Given the description of an element on the screen output the (x, y) to click on. 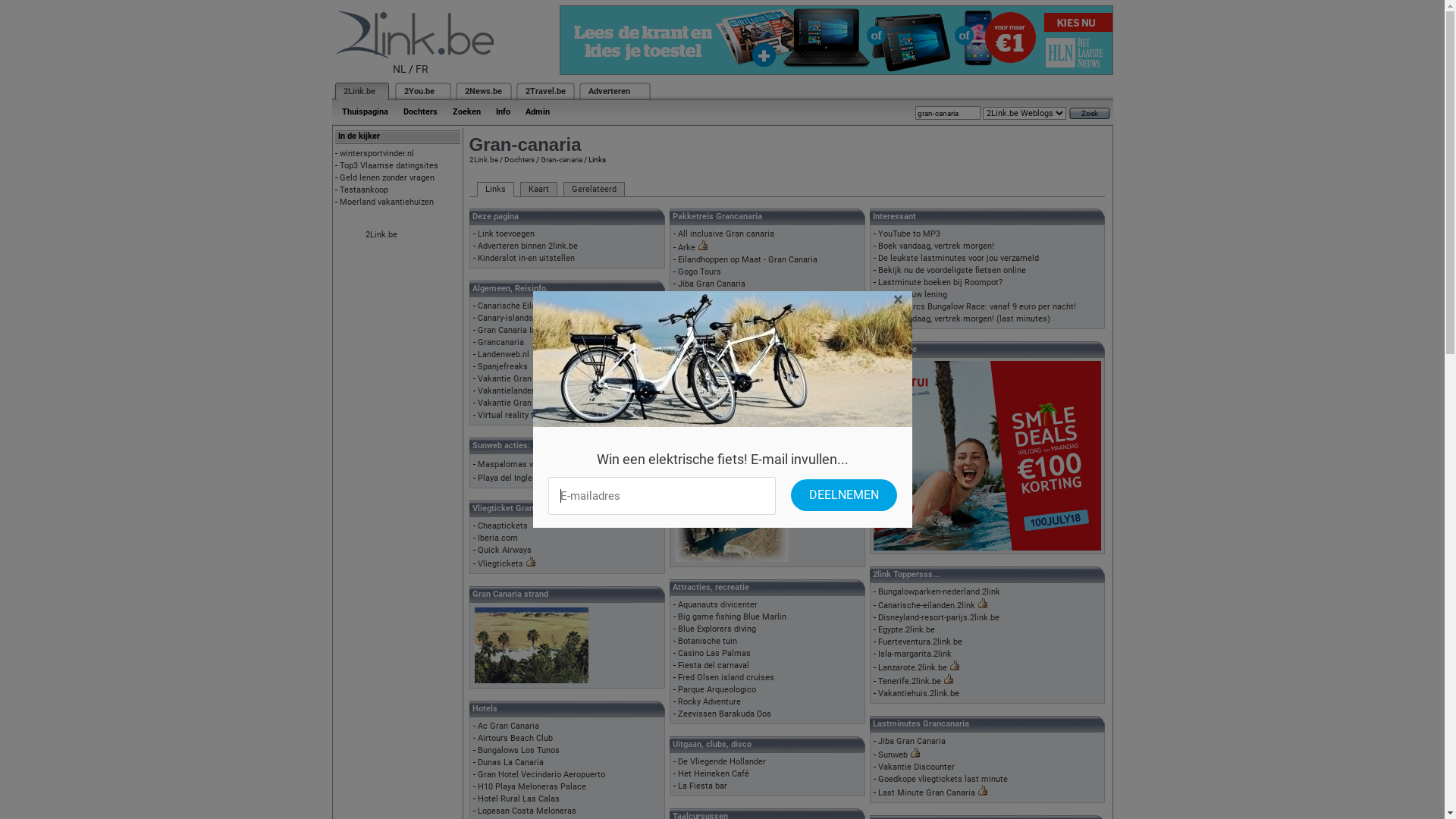
Vliegtickets Element type: text (500, 563)
Thuispagina Element type: text (364, 111)
Casino Las Palmas Element type: text (713, 653)
Aquanauts divicenter Element type: text (717, 604)
Gran Canaria Info Element type: text (510, 330)
Links Element type: text (494, 189)
Avis Element type: text (685, 430)
Fuerteventura.2link.be Element type: text (920, 641)
Rocky Adventure Element type: text (708, 701)
Lopesan Costa Meloneras Element type: text (526, 810)
Admin Element type: text (536, 111)
Geld lenen zonder vragen Element type: text (386, 177)
Lastminute boeken bij Roompot? Element type: text (940, 282)
OutSight Travel Element type: text (707, 308)
YouTube to MP3 Element type: text (909, 233)
Vakantie Canarische Eilanden Element type: text (733, 333)
Boek vandaag, vertrek morgen! (last minutes) Element type: text (964, 318)
Big game fishing Blue Marlin Element type: text (731, 616)
Airtours Beach Club Element type: text (514, 738)
Bungalowparken-nederland.2link Element type: text (939, 591)
Virtual reality tour Element type: text (511, 415)
Parque Arqueologico Element type: text (716, 689)
Zeevissen Barakuda Dos Element type: text (724, 713)
Hotel Rural Las Calas Element type: text (518, 798)
Info Element type: text (502, 111)
De leukste lastminutes voor jou verzameld Element type: text (958, 258)
2Link.be Element type: text (358, 91)
Zoek Element type: text (1089, 113)
Testaankoop Element type: text (363, 189)
Dunas La Canaria Element type: text (510, 762)
Boek vandaag, vertrek morgen! Element type: text (936, 246)
Sunweb Element type: text (692, 321)
H10 Playa Meloneras Palace Element type: text (531, 786)
Quick Airways Element type: text (504, 550)
Egypte.2link.be Element type: text (906, 629)
Isla-margarita.2link Element type: text (914, 653)
2Link.be Element type: text (482, 159)
Gran Hotel Vecindario Aeropuerto Element type: text (541, 774)
Grancanaria Element type: text (500, 342)
Bungalows Los Tunos Element type: text (518, 750)
Link toevoegen Element type: text (505, 233)
Arke Element type: text (686, 247)
2Travel.be Element type: text (544, 91)
Blue Explorers diving Element type: text (716, 628)
La Fiesta bar Element type: text (702, 785)
All inclusive Gran canaria Element type: text (725, 233)
Vakantiediscounter Element type: text (714, 358)
Iberia.com Element type: text (497, 537)
Vakantielanden.net Gran Canaria Element type: text (539, 390)
2News.be Element type: text (482, 91)
Vakantie Gran Canaria Element type: text (519, 402)
Canarische-eilanden.2link Element type: text (926, 605)
Kinderslot in-en uitstellen Element type: text (525, 258)
Ac Gran Canaria Element type: text (508, 726)
Disneyland-resort-parijs.2link.be Element type: text (938, 617)
Kaart Element type: text (538, 189)
Zoeken Element type: text (465, 111)
Bereken uw lening Element type: text (912, 294)
Goedkope vliegtickets last minute Element type: text (942, 779)
Botanische tuin Element type: text (707, 641)
Lanzarote.2link.be Element type: text (912, 667)
Jiba Gran Canaria Element type: text (911, 741)
Spanjefreaks Element type: text (502, 366)
De Vliegende Hollander Element type: text (721, 761)
Top3 Vlaamse datingsites Element type: text (388, 165)
2Link.be Element type: text (381, 234)
Holidaycars Element type: text (699, 442)
Landenweb.nl Element type: text (503, 354)
Moerland vakantiehuizen Element type: text (386, 202)
Canarische Eilanden Reizen Element type: text (529, 305)
CenterParcs Bungalow Race: vanaf 9 euro per nacht! Element type: text (977, 306)
FR Element type: text (421, 68)
Vakantiehuis.2link.be Element type: text (918, 693)
Fred Olsen island cruises Element type: text (725, 677)
NL Element type: text (399, 68)
Gogo Tours Element type: text (699, 271)
Cheaptickets Element type: text (502, 525)
Eilandhoppen op Maat - Gran Canaria Element type: text (747, 259)
Sunweb Element type: text (892, 754)
wintersportvinder.nl Element type: text (376, 153)
Tenerife.2link.be Element type: text (909, 681)
Adverteren Element type: text (609, 91)
Vakantie Discounter Element type: text (916, 766)
2You.be Element type: text (418, 91)
Dochters Element type: text (518, 159)
Gran-canaria Element type: text (560, 159)
Fiesta del carnaval Element type: text (713, 665)
Last Minute Gran Canaria Element type: text (726, 296)
Alamo actiecode overzicht Element type: text (727, 418)
Jiba Gran Canaria Element type: text (711, 283)
Gerelateerd Element type: text (593, 189)
Zonvakantie Gran Canaria Element type: text (726, 370)
Vakantie Gran Canaria Neckermann Element type: text (745, 346)
Adverteren binnen 2link.be Element type: text (527, 246)
Last Minute Gran Canaria Element type: text (926, 792)
Vakantie Gran Canaria Element type: text (519, 378)
Bekijk nu de voordeligste fietsen online Element type: text (952, 270)
Canary-islands Element type: text (505, 318)
Dochters Element type: text (420, 111)
